Given the description of an element on the screen output the (x, y) to click on. 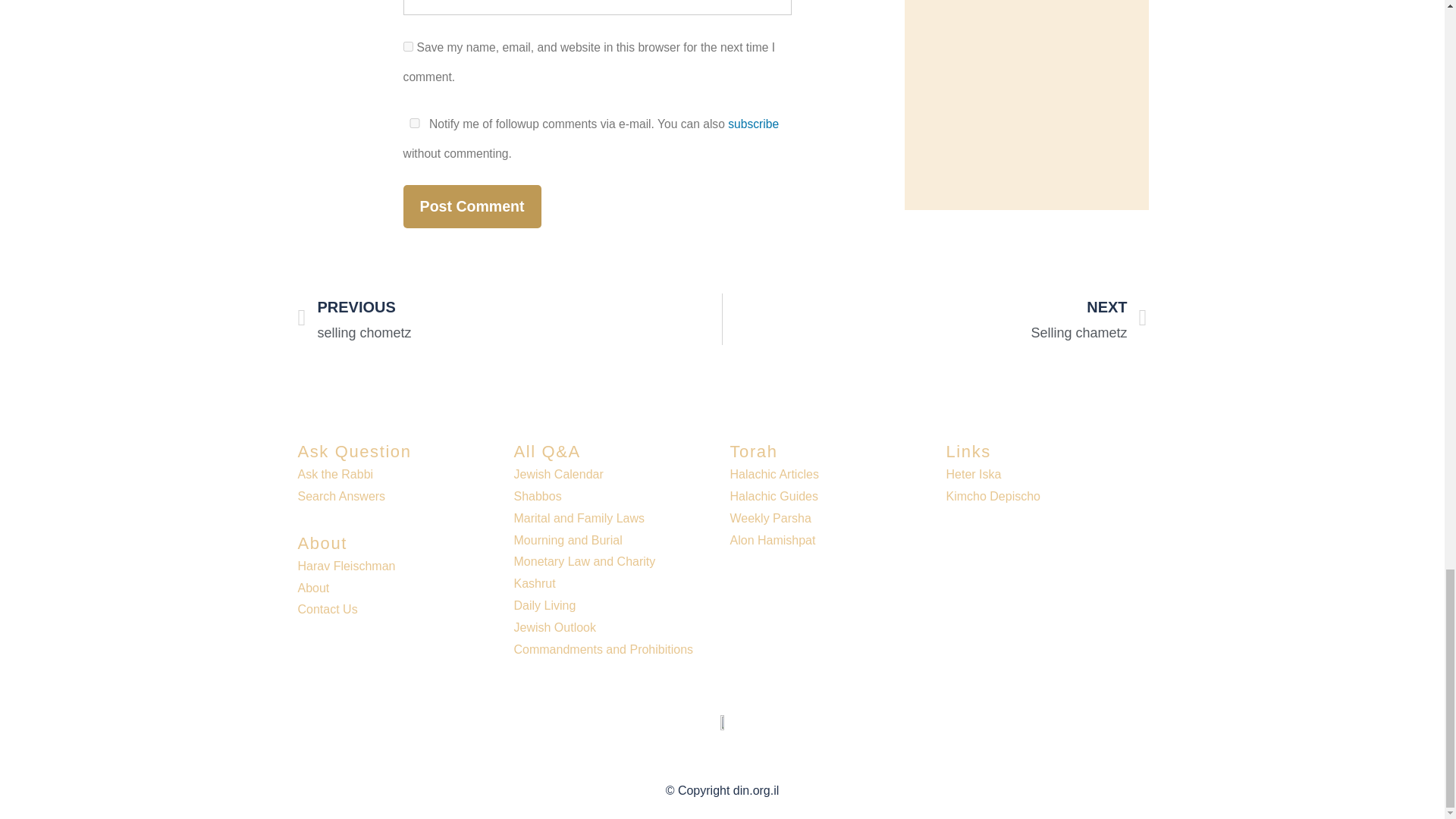
yes (408, 46)
yes (414, 122)
Post Comment (472, 206)
